Given the description of an element on the screen output the (x, y) to click on. 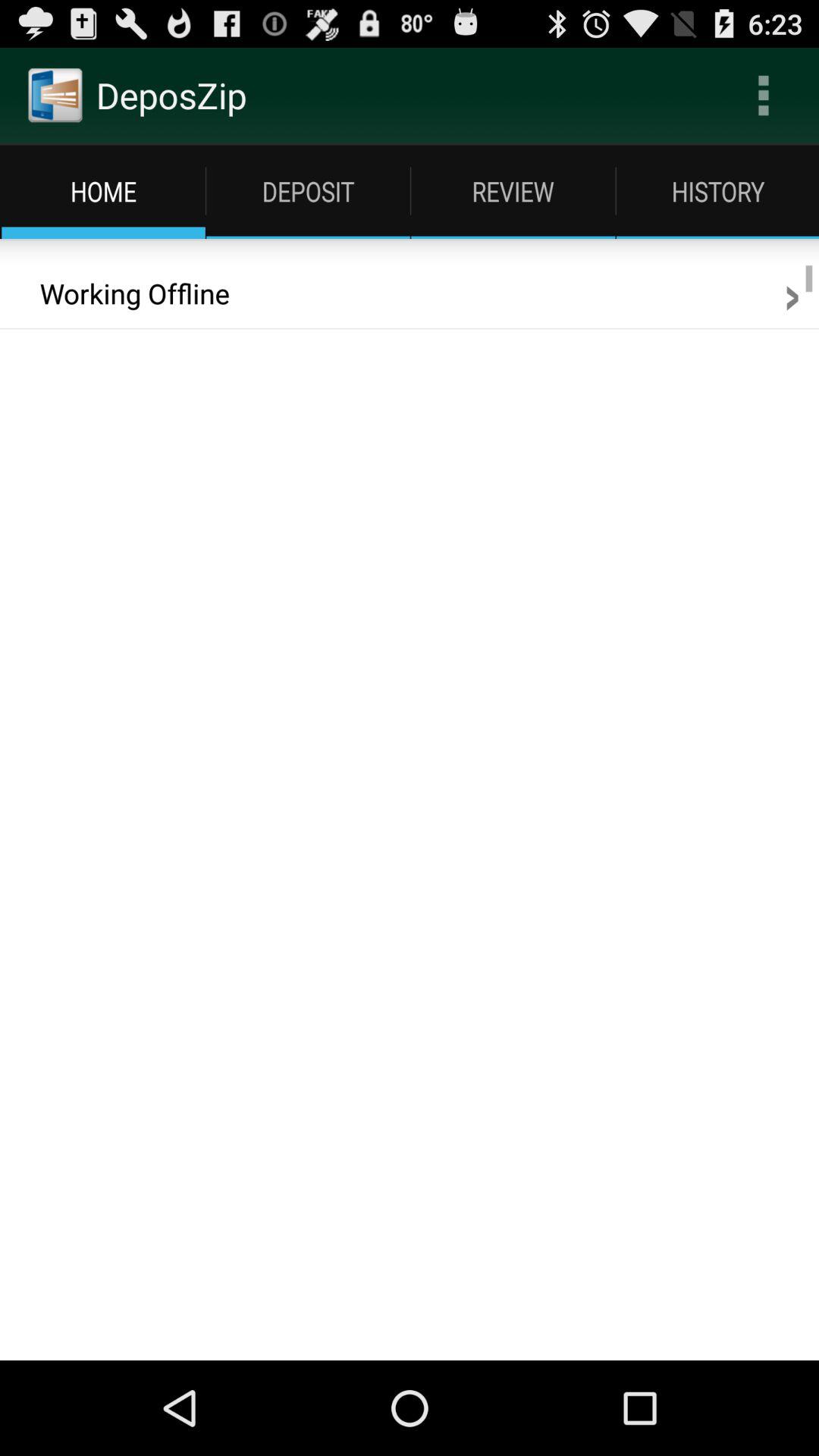
tap the item next to the deposzip item (763, 95)
